Given the description of an element on the screen output the (x, y) to click on. 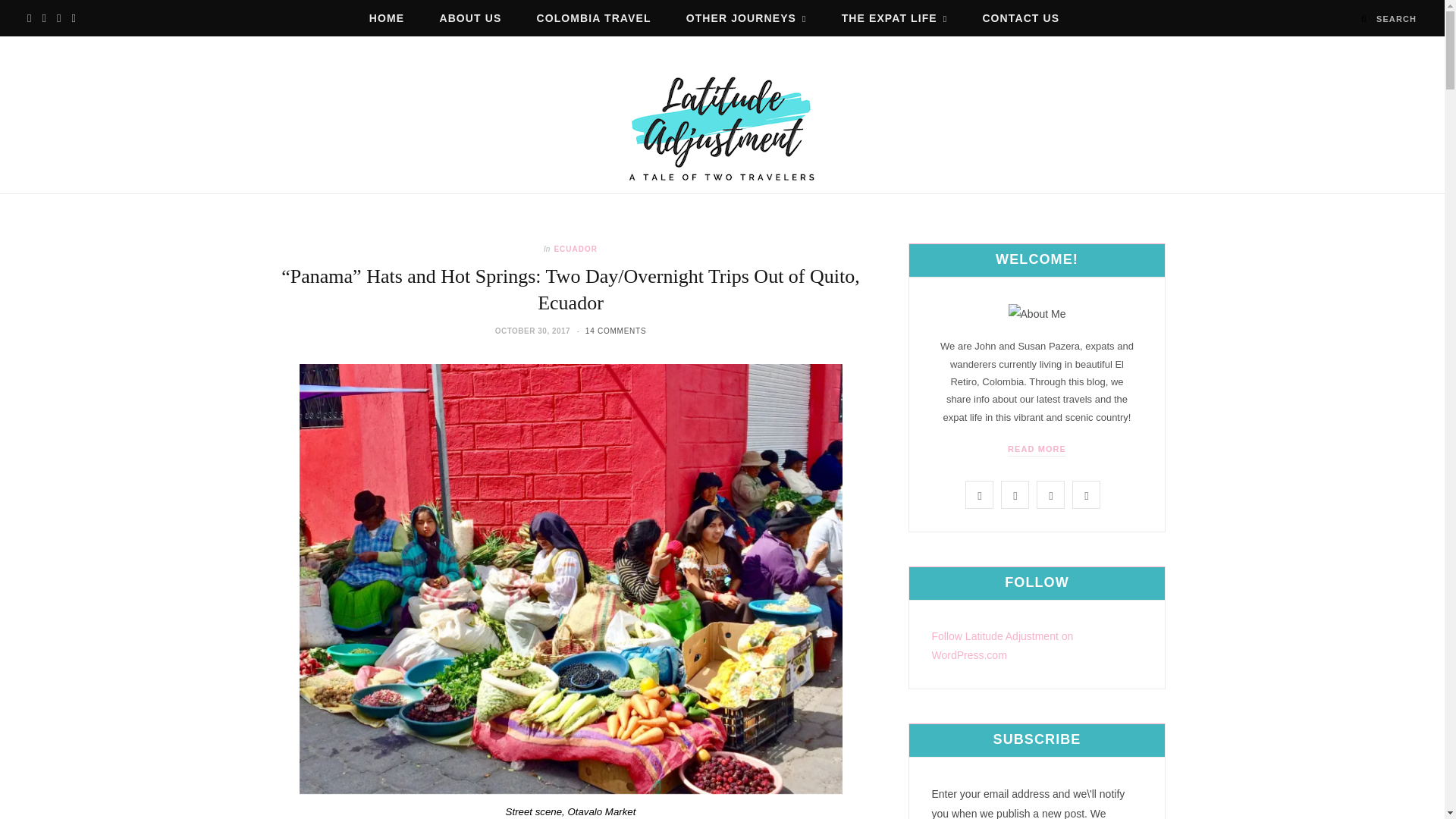
Latitude Adjustment (721, 128)
ECUADOR (574, 248)
HOME (386, 18)
ABOUT US (469, 18)
OTHER JOURNEYS (745, 18)
14 COMMENTS (615, 330)
COLOMBIA TRAVEL (592, 18)
THE EXPAT LIFE (894, 18)
CONTACT US (1020, 18)
OCTOBER 30, 2017 (534, 330)
